Given the description of an element on the screen output the (x, y) to click on. 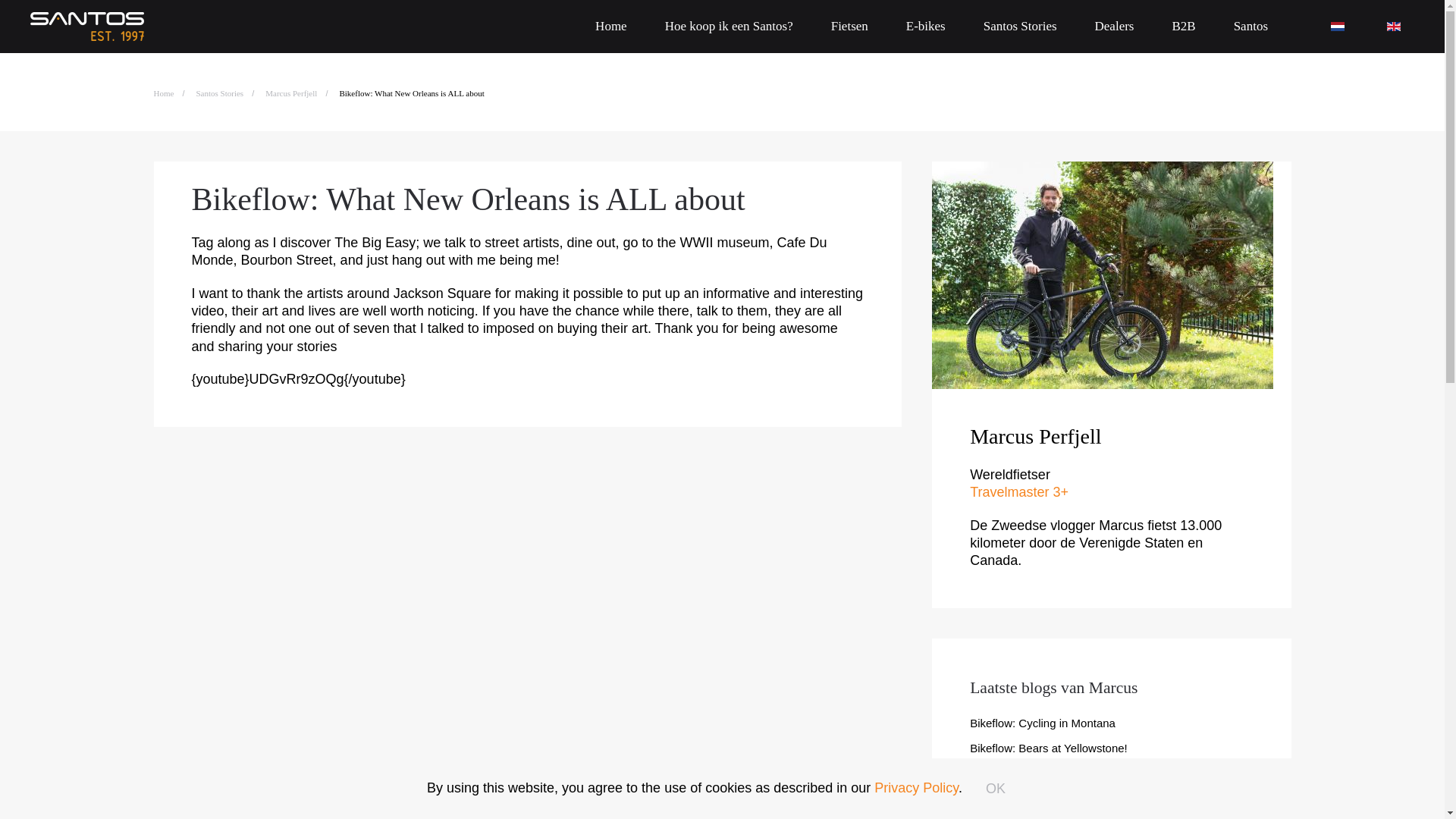
toast-frame (1270, 780)
